Given the description of an element on the screen output the (x, y) to click on. 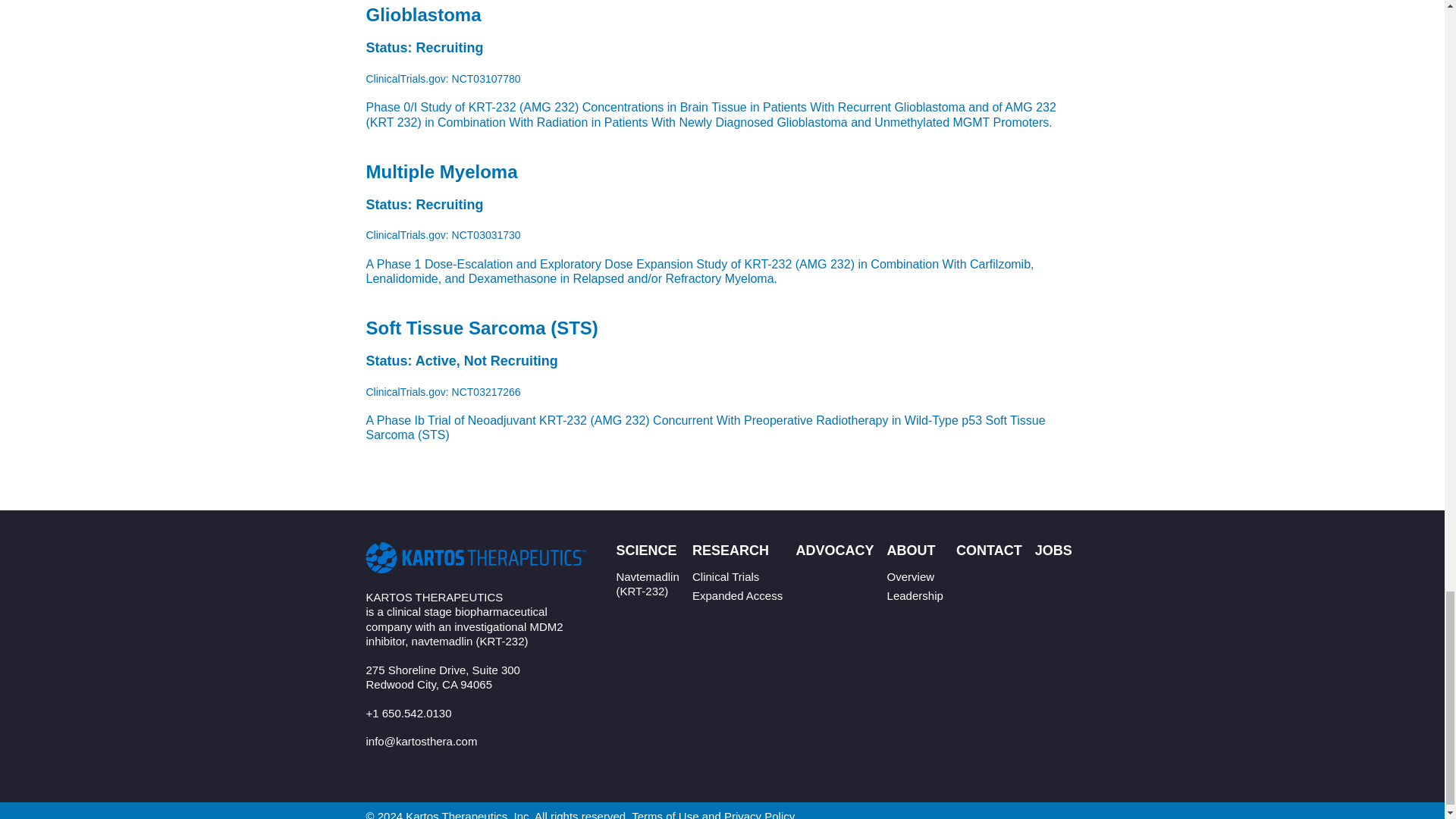
Clinical Trials (725, 576)
CONTACT (989, 550)
Expanded Access (738, 595)
ADVOCACY (833, 550)
SCIENCE (646, 550)
ABOUT (911, 550)
RESEARCH (730, 550)
ClinicalTrials.gov: NCT03217266 (442, 391)
JOBS (1053, 550)
ClinicalTrials.gov: NCT03031730 (442, 234)
